Given the description of an element on the screen output the (x, y) to click on. 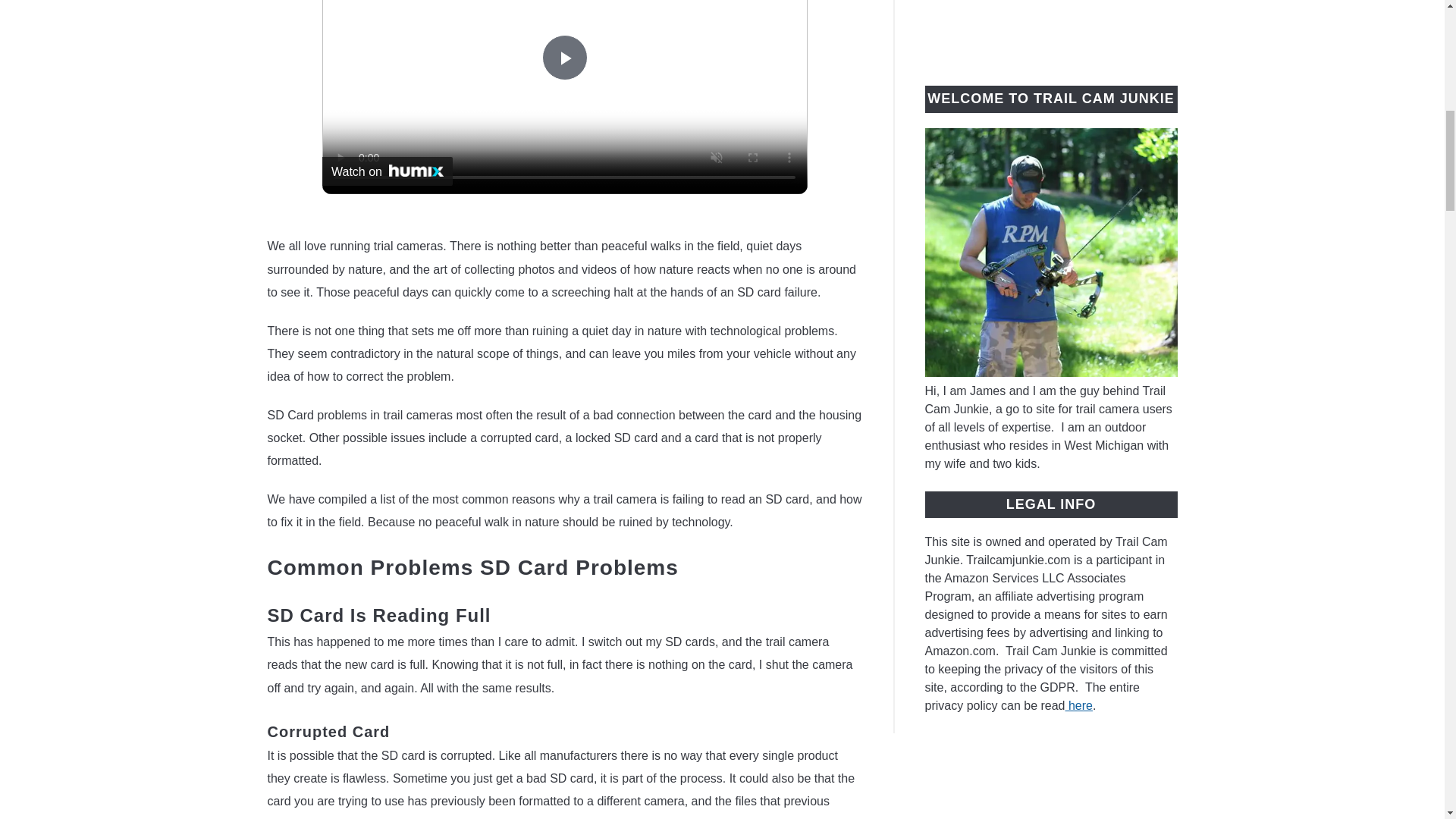
here (1078, 705)
Play Video (564, 57)
Watch on (386, 171)
Play Video (564, 57)
